Given the description of an element on the screen output the (x, y) to click on. 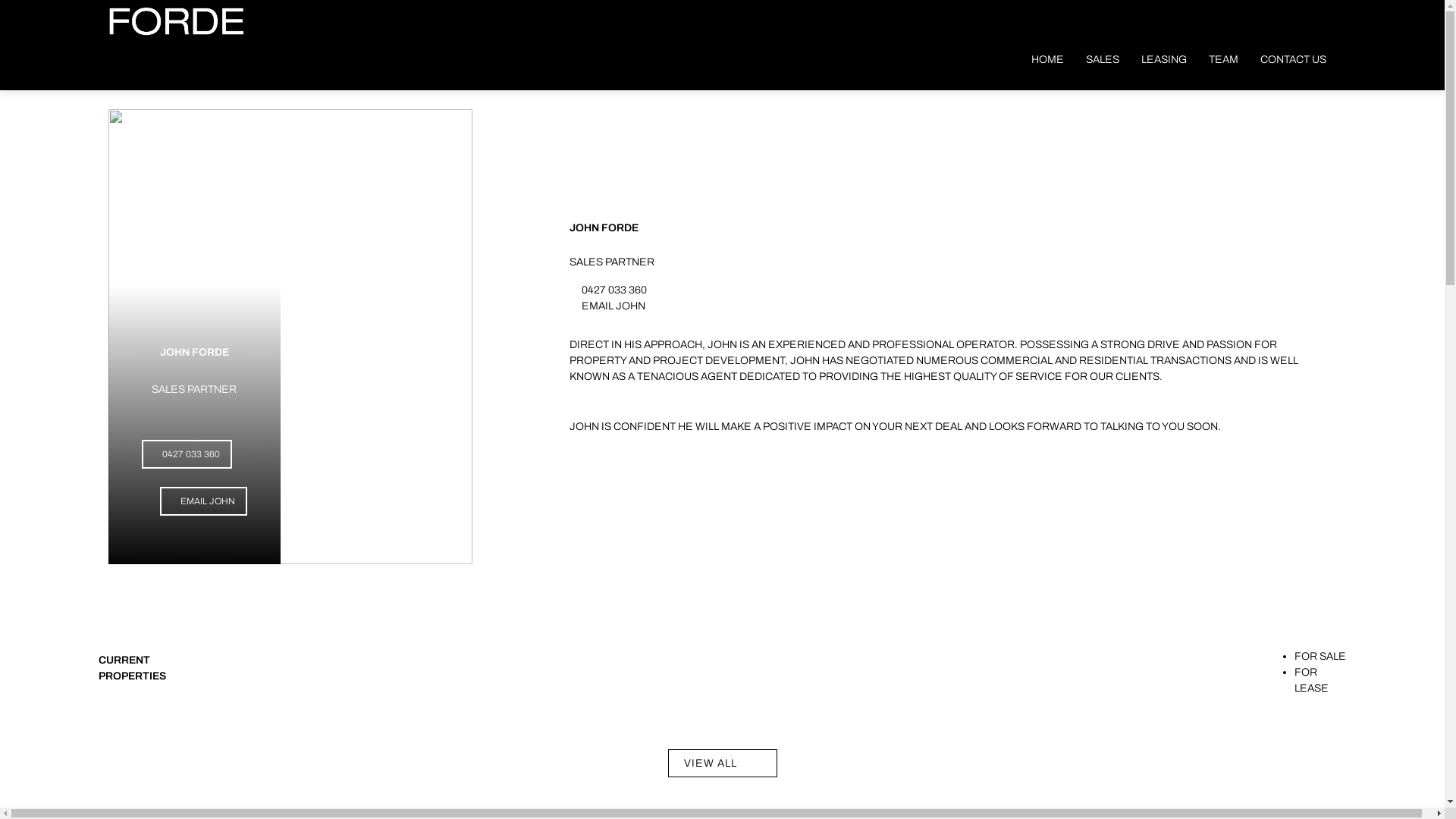
EMAIL JOHN Element type: text (203, 500)
SALES Element type: text (1102, 59)
HOME Element type: text (1047, 59)
0427 033 360 Element type: text (613, 288)
0427 033 360 Element type: text (186, 453)
FOR LEASE Element type: text (1311, 679)
EMAIL JOHN Element type: text (613, 305)
LEASING Element type: text (1163, 59)
VIEW ALL Element type: text (721, 763)
Primary Menu Element type: text (1072, 14)
CONTACT US Element type: text (1293, 59)
TEAM Element type: text (1223, 59)
FOR SALE Element type: text (1320, 656)
